Given the description of an element on the screen output the (x, y) to click on. 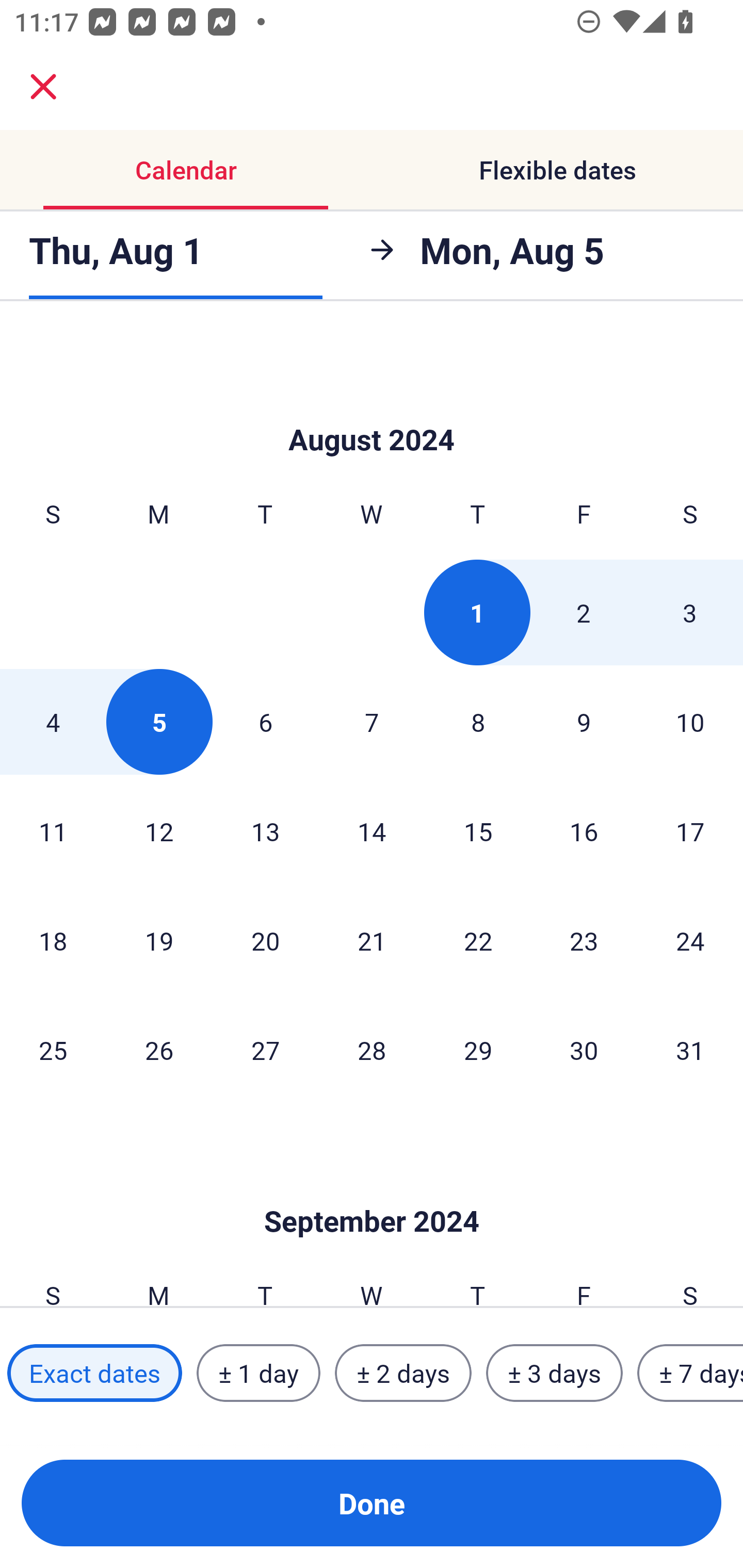
close. (43, 86)
Flexible dates (557, 170)
Skip to Done (371, 408)
6 Tuesday, August 6, 2024 (265, 721)
7 Wednesday, August 7, 2024 (371, 721)
8 Thursday, August 8, 2024 (477, 721)
9 Friday, August 9, 2024 (584, 721)
10 Saturday, August 10, 2024 (690, 721)
11 Sunday, August 11, 2024 (53, 830)
12 Monday, August 12, 2024 (159, 830)
13 Tuesday, August 13, 2024 (265, 830)
14 Wednesday, August 14, 2024 (371, 830)
15 Thursday, August 15, 2024 (477, 830)
16 Friday, August 16, 2024 (584, 830)
17 Saturday, August 17, 2024 (690, 830)
18 Sunday, August 18, 2024 (53, 940)
19 Monday, August 19, 2024 (159, 940)
20 Tuesday, August 20, 2024 (265, 940)
21 Wednesday, August 21, 2024 (371, 940)
22 Thursday, August 22, 2024 (477, 940)
